Given the description of an element on the screen output the (x, y) to click on. 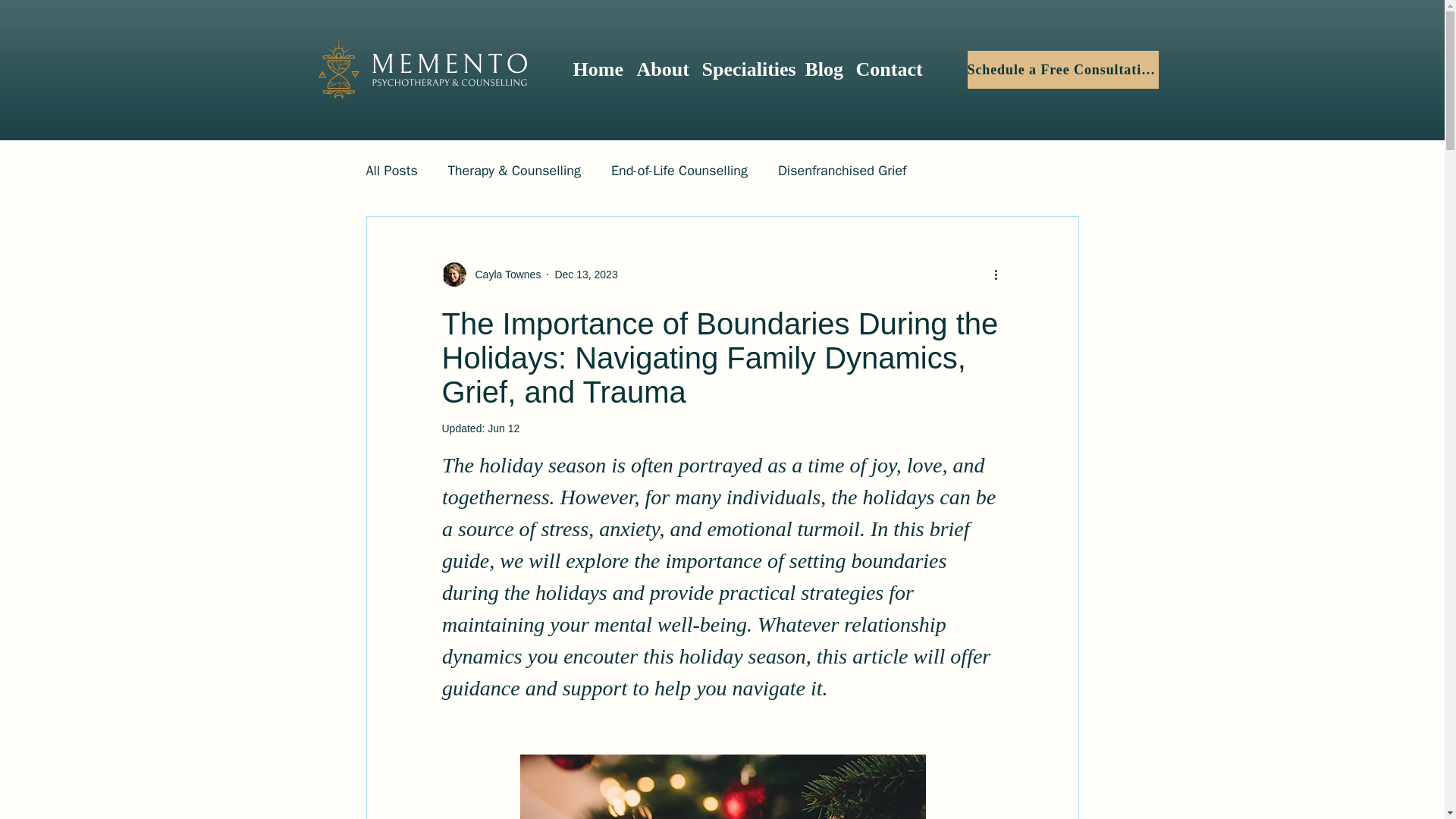
Dec 13, 2023 (585, 274)
Blog (822, 69)
About (661, 69)
End-of-Life Counselling (679, 170)
Schedule a Free Consultation (1063, 69)
Disenfranchised Grief (841, 170)
Specialities (745, 69)
Contact (887, 69)
All Posts (390, 170)
Cayla Townes (502, 274)
Jun 12 (503, 428)
Home (597, 69)
